Given the description of an element on the screen output the (x, y) to click on. 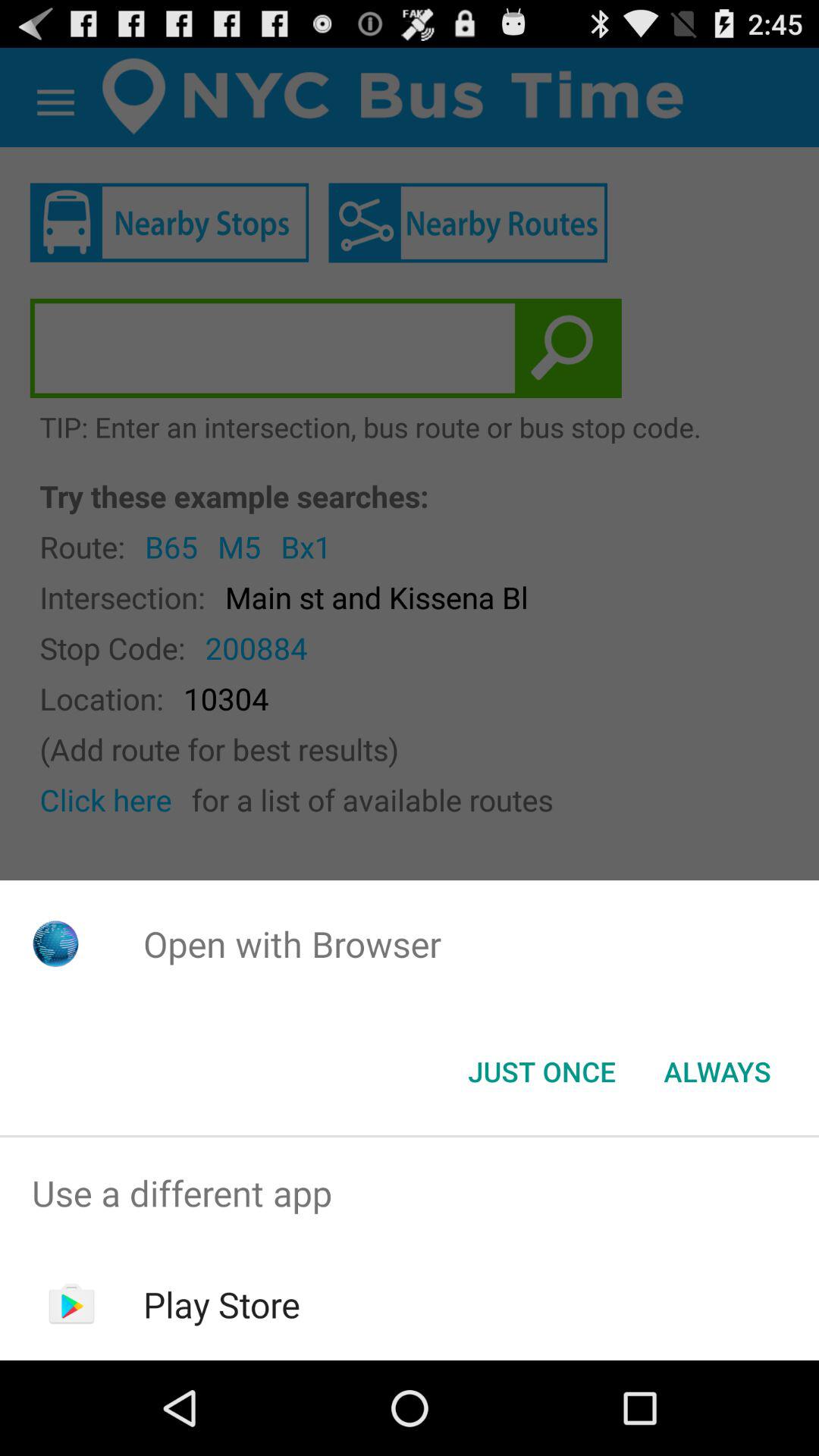
swipe to the always icon (717, 1071)
